Given the description of an element on the screen output the (x, y) to click on. 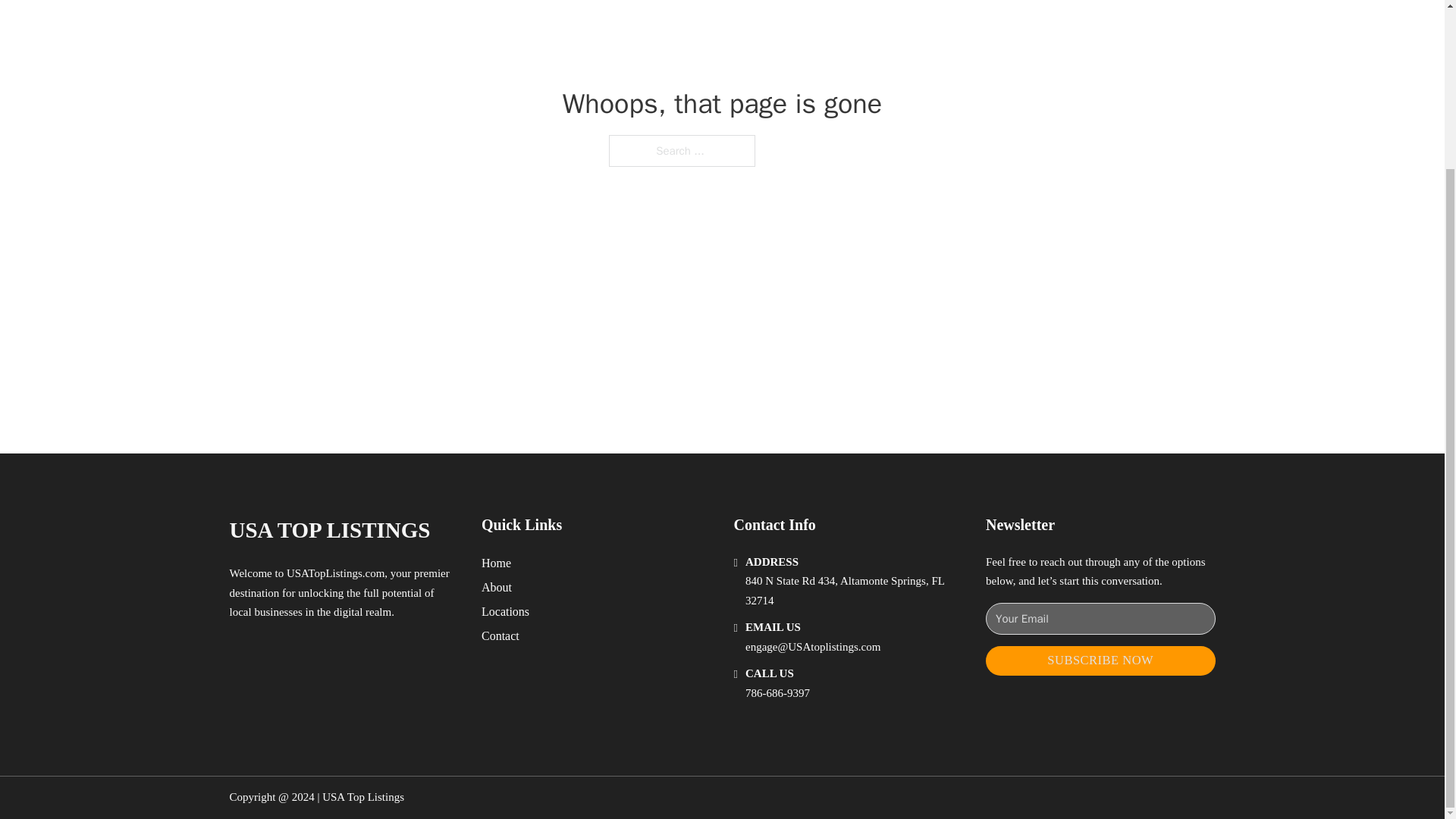
USATopListings.com (335, 573)
Locations (505, 611)
Contact (500, 635)
About (496, 587)
Home (496, 562)
SUBSCRIBE NOW (1100, 660)
USA TOP LISTINGS (328, 529)
786-686-9397 (777, 693)
